Given the description of an element on the screen output the (x, y) to click on. 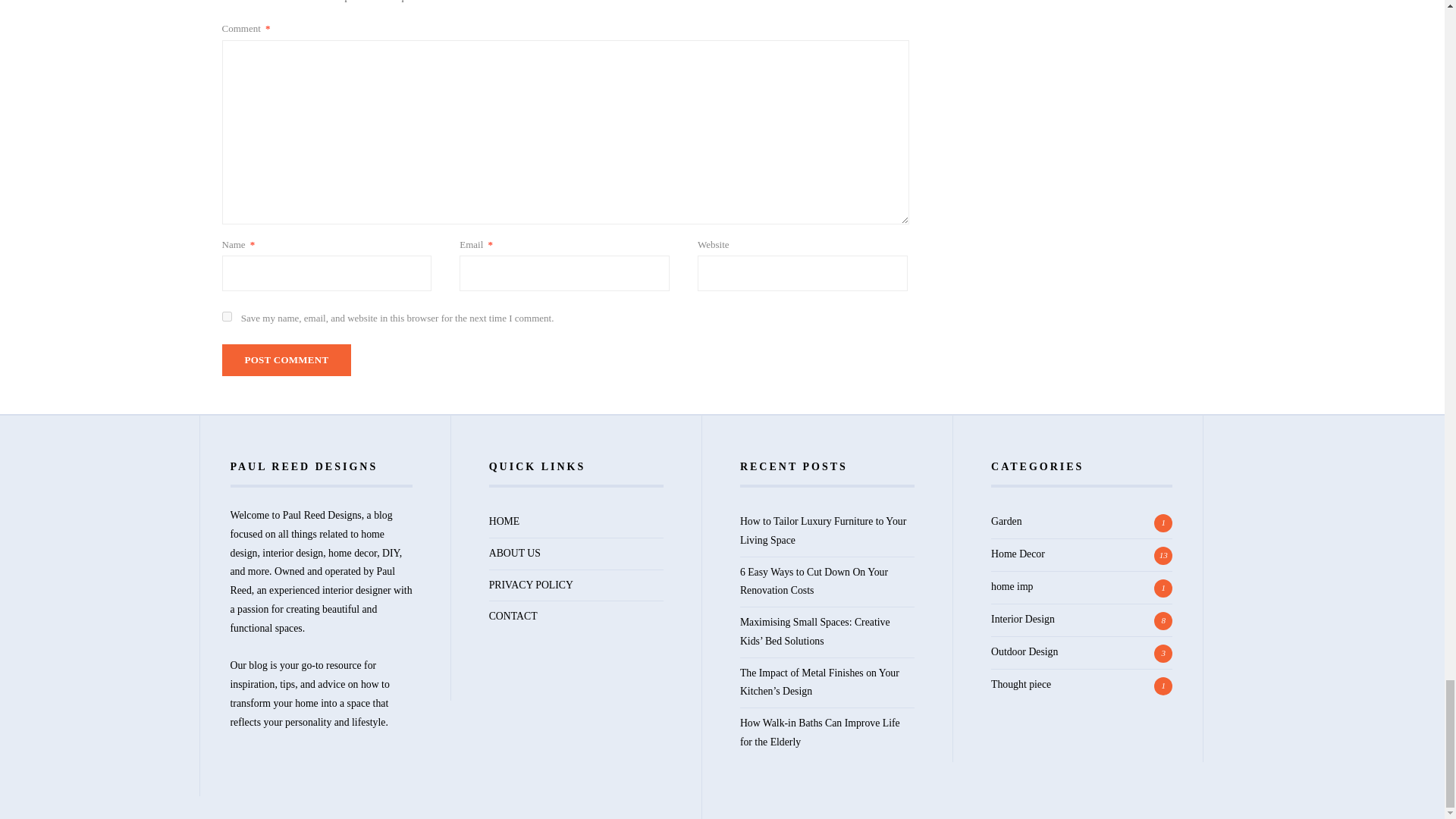
yes (226, 316)
Post Comment (285, 359)
Post Comment (285, 359)
